Given the description of an element on the screen output the (x, y) to click on. 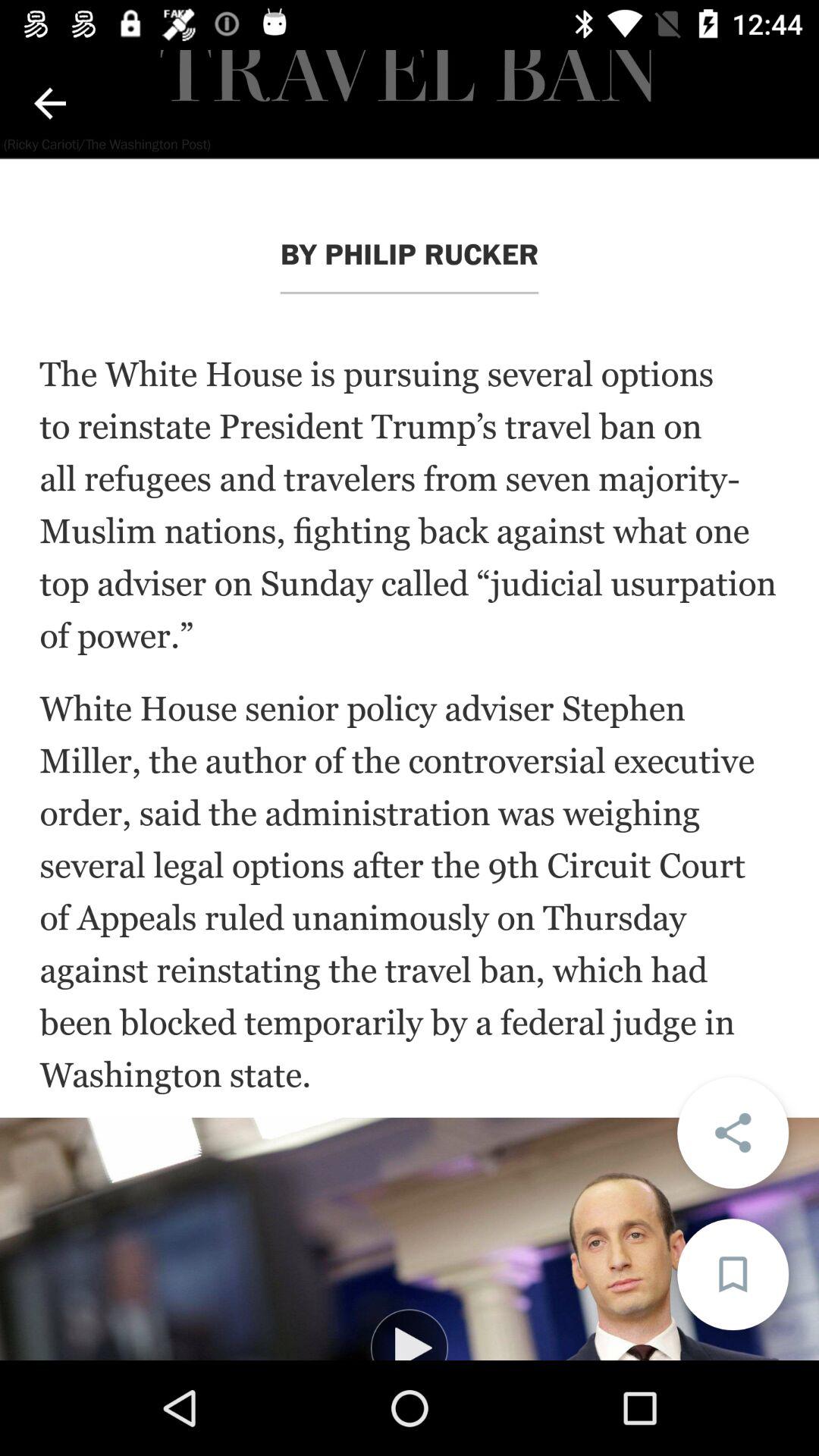
previous page (49, 103)
